Given the description of an element on the screen output the (x, y) to click on. 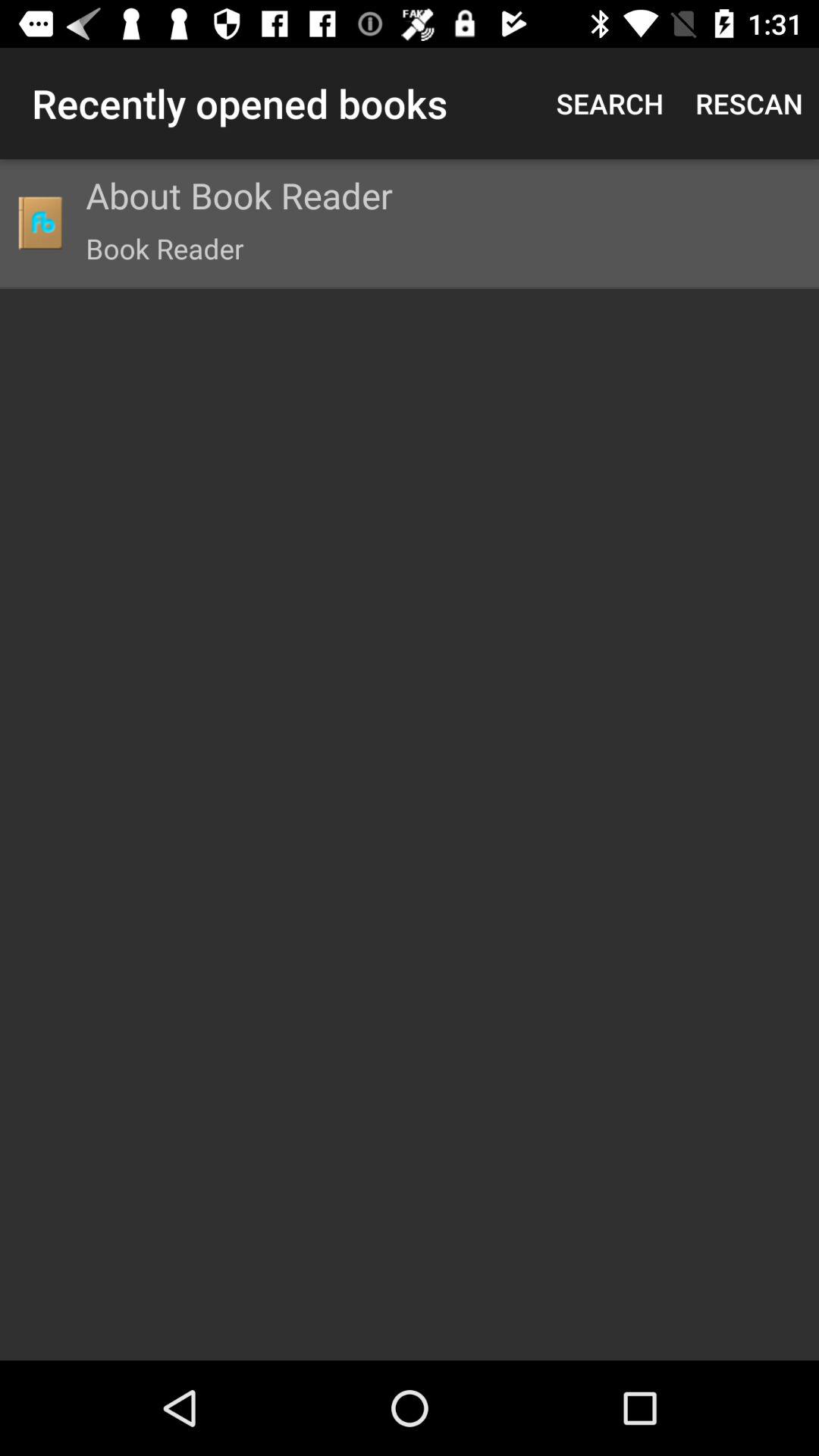
turn off icon below recently opened books icon (39, 222)
